Given the description of an element on the screen output the (x, y) to click on. 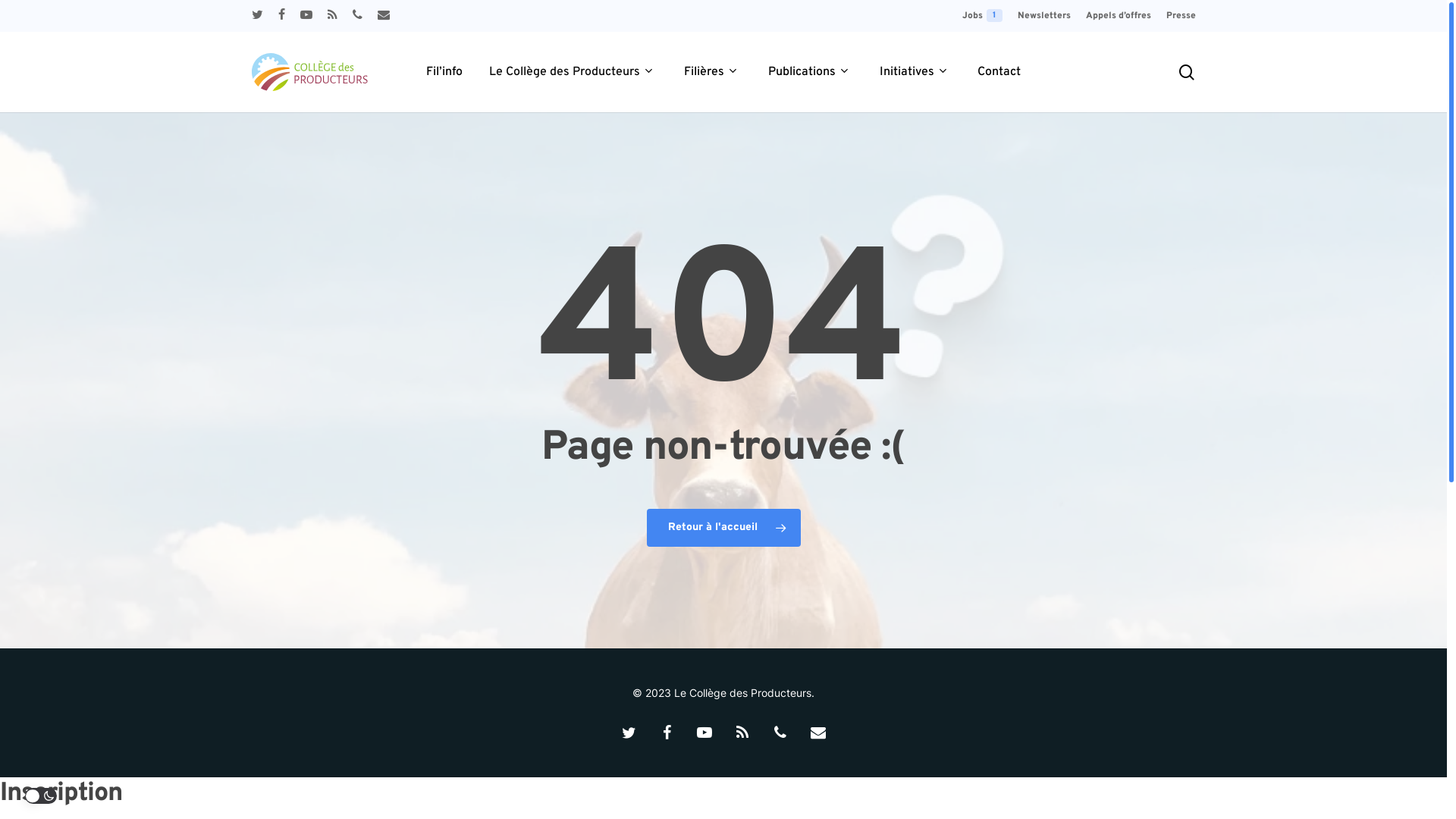
youtube Element type: text (306, 15)
Newsletters Element type: text (1043, 15)
search Element type: text (1185, 71)
RSS Element type: text (742, 731)
phone Element type: text (779, 731)
email Element type: text (817, 731)
RSS Element type: text (332, 15)
Presse Element type: text (1180, 15)
Initiatives Element type: text (914, 72)
facebook Element type: text (666, 731)
twitter Element type: text (257, 15)
Jobs1 Element type: text (981, 15)
twitter Element type: text (628, 731)
Publications Element type: text (810, 72)
Contact Element type: text (999, 72)
facebook Element type: text (280, 15)
phone Element type: text (356, 15)
email Element type: text (383, 15)
youtube Element type: text (704, 731)
